Given the description of an element on the screen output the (x, y) to click on. 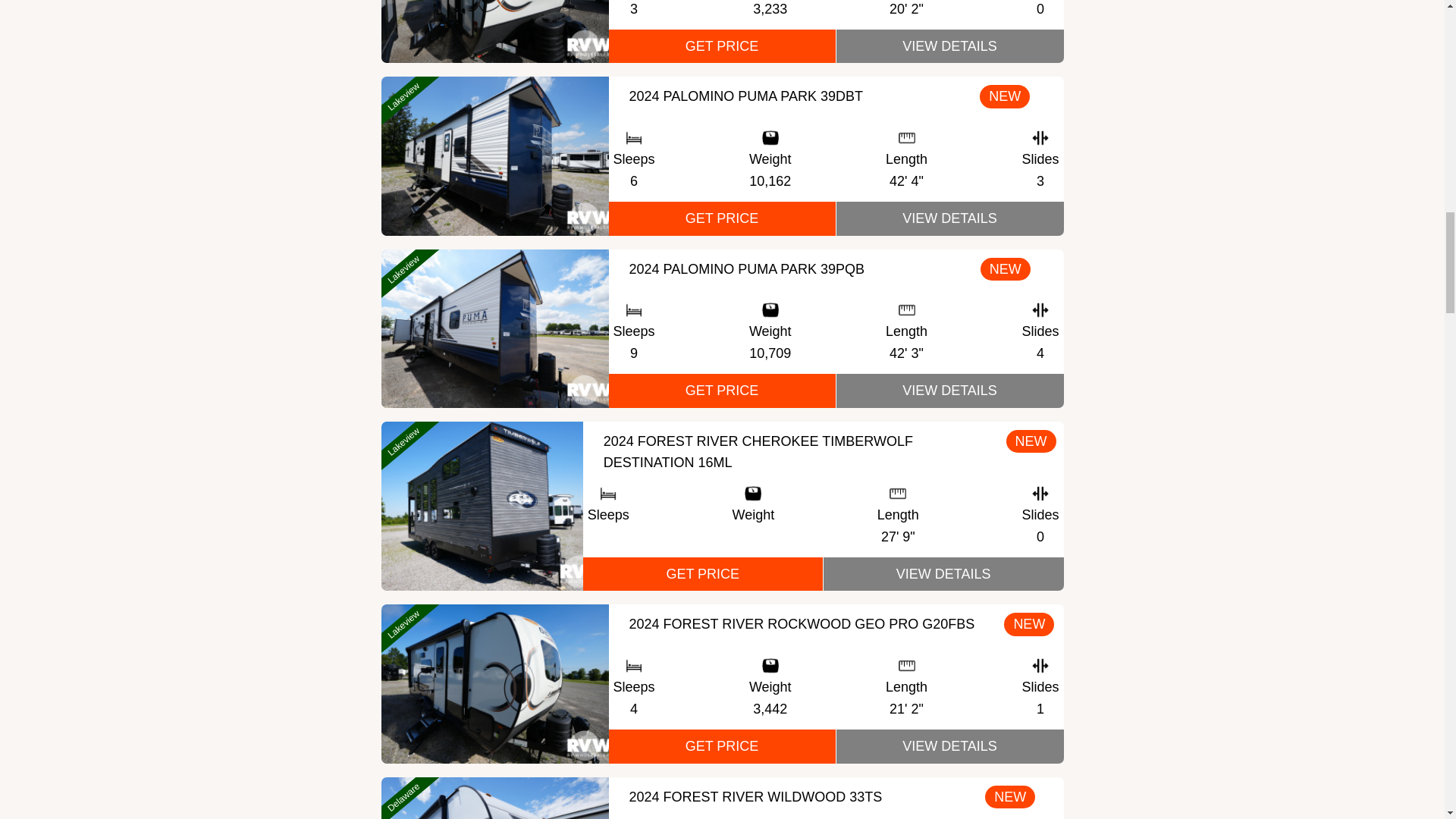
Dry Weight 3,233 lbs (770, 10)
Length 20' 2" (906, 10)
Sleeps 3 (632, 10)
